Given the description of an element on the screen output the (x, y) to click on. 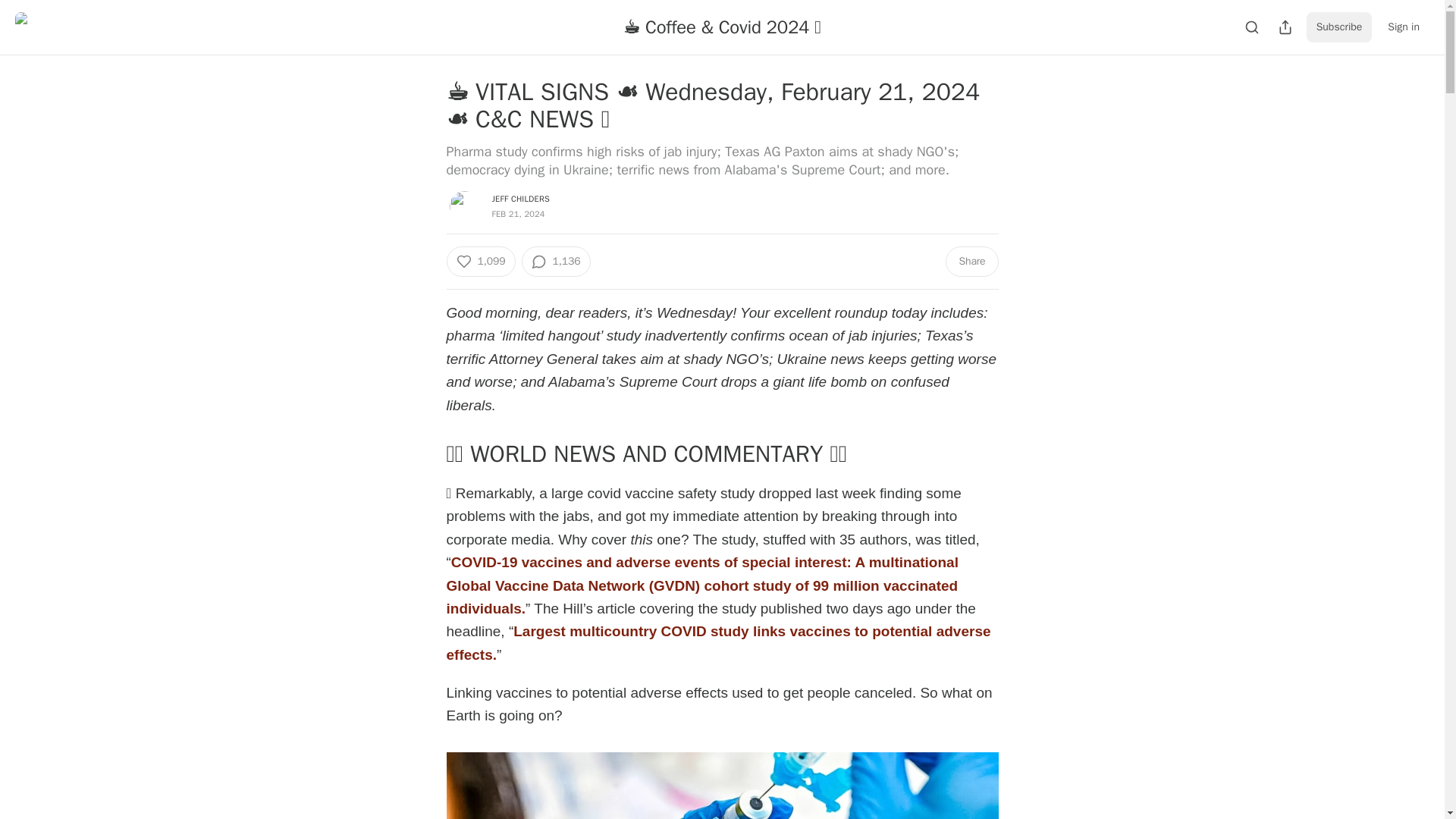
Subscribe (1339, 27)
1,136 (556, 261)
Sign in (1403, 27)
1,099 (480, 261)
Share (970, 261)
image 2.png (721, 785)
JEFF CHILDERS (520, 198)
